Given the description of an element on the screen output the (x, y) to click on. 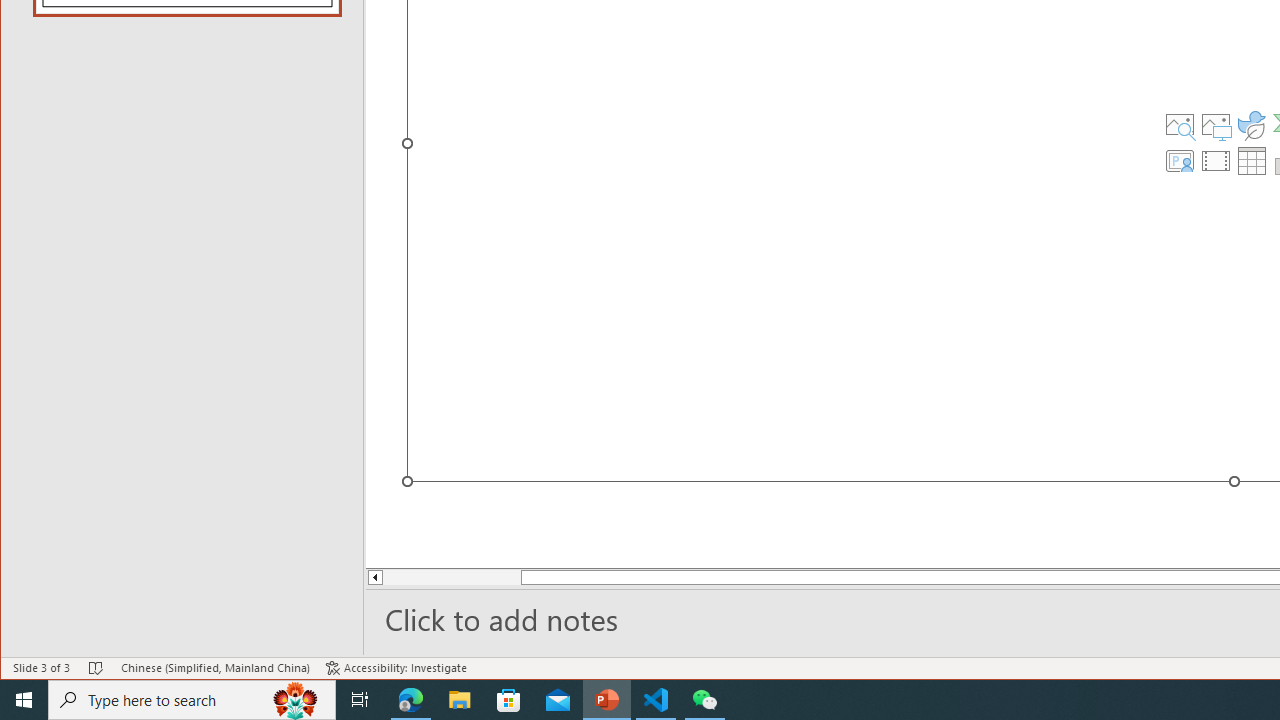
File Explorer (460, 699)
Stock Images (1179, 124)
WeChat - 1 running window (704, 699)
Page up (438, 577)
Start (24, 699)
